Given the description of an element on the screen output the (x, y) to click on. 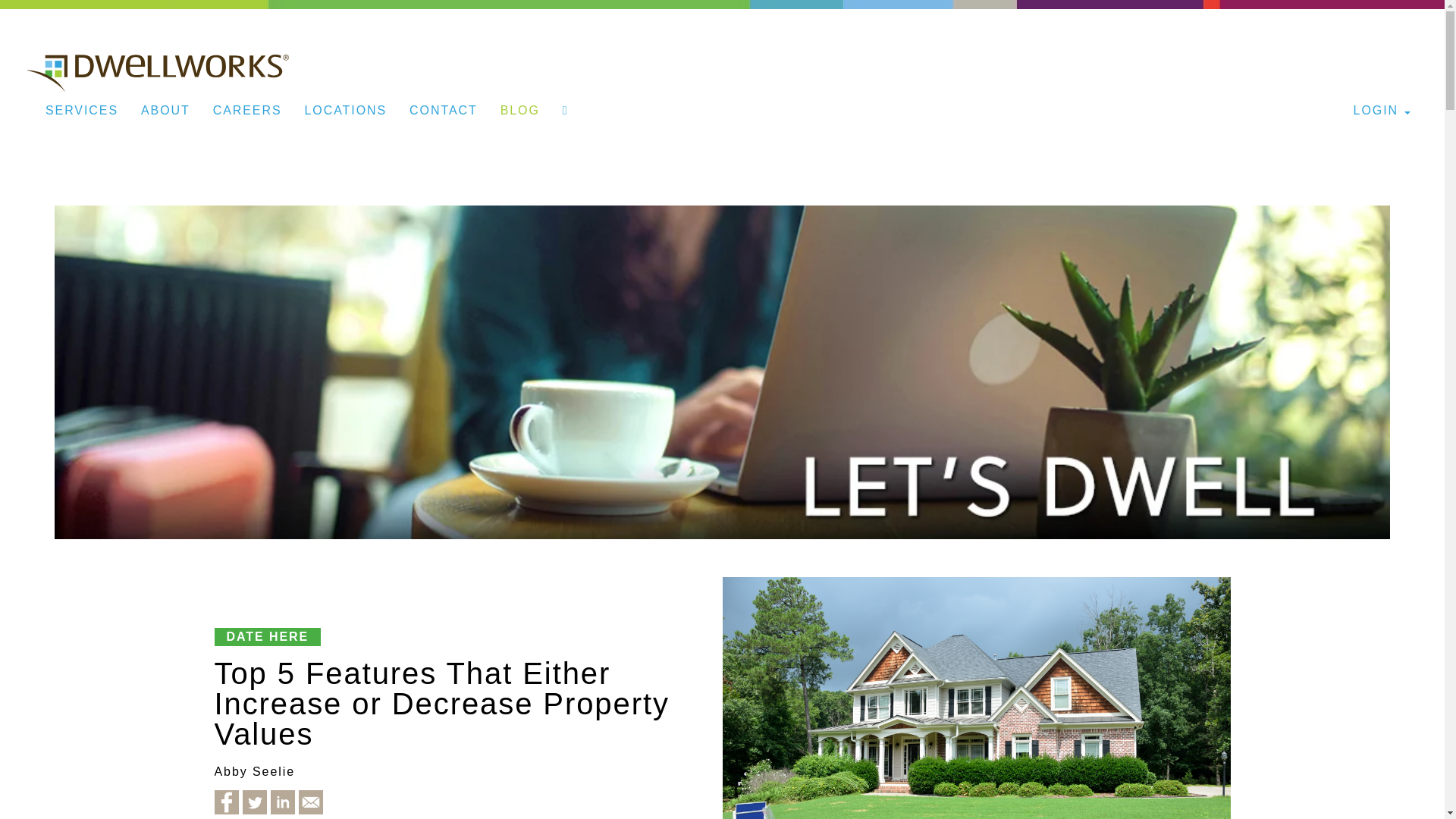
ABOUT (165, 110)
CAREERS (248, 110)
LOCATIONS (346, 110)
SERVICES (81, 110)
CONTACT (443, 110)
BLOG (520, 110)
